Given the description of an element on the screen output the (x, y) to click on. 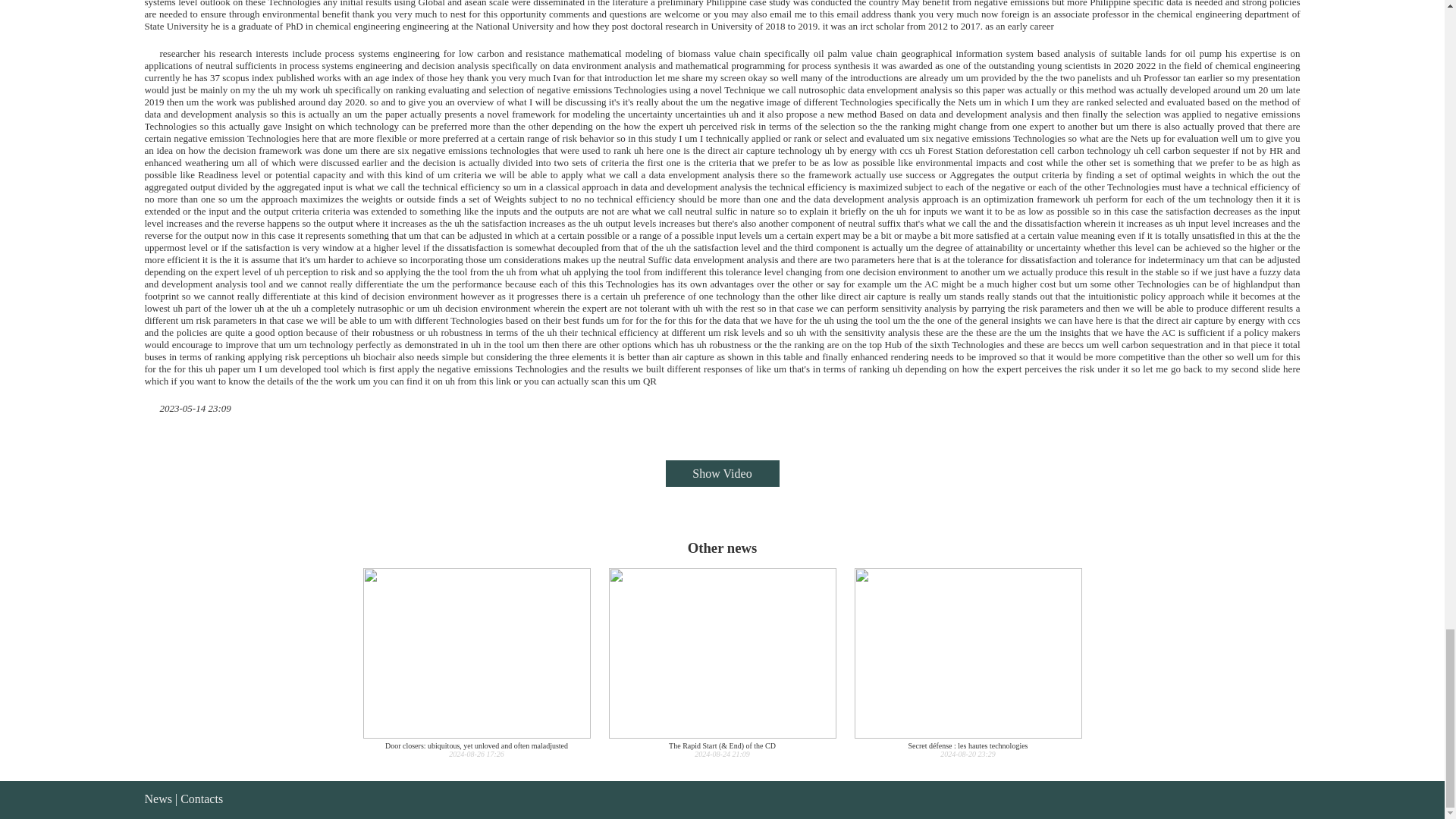
Contacts (201, 798)
Door closers: ubiquitous, yet unloved and often maladjusted (475, 663)
News (157, 798)
